Given the description of an element on the screen output the (x, y) to click on. 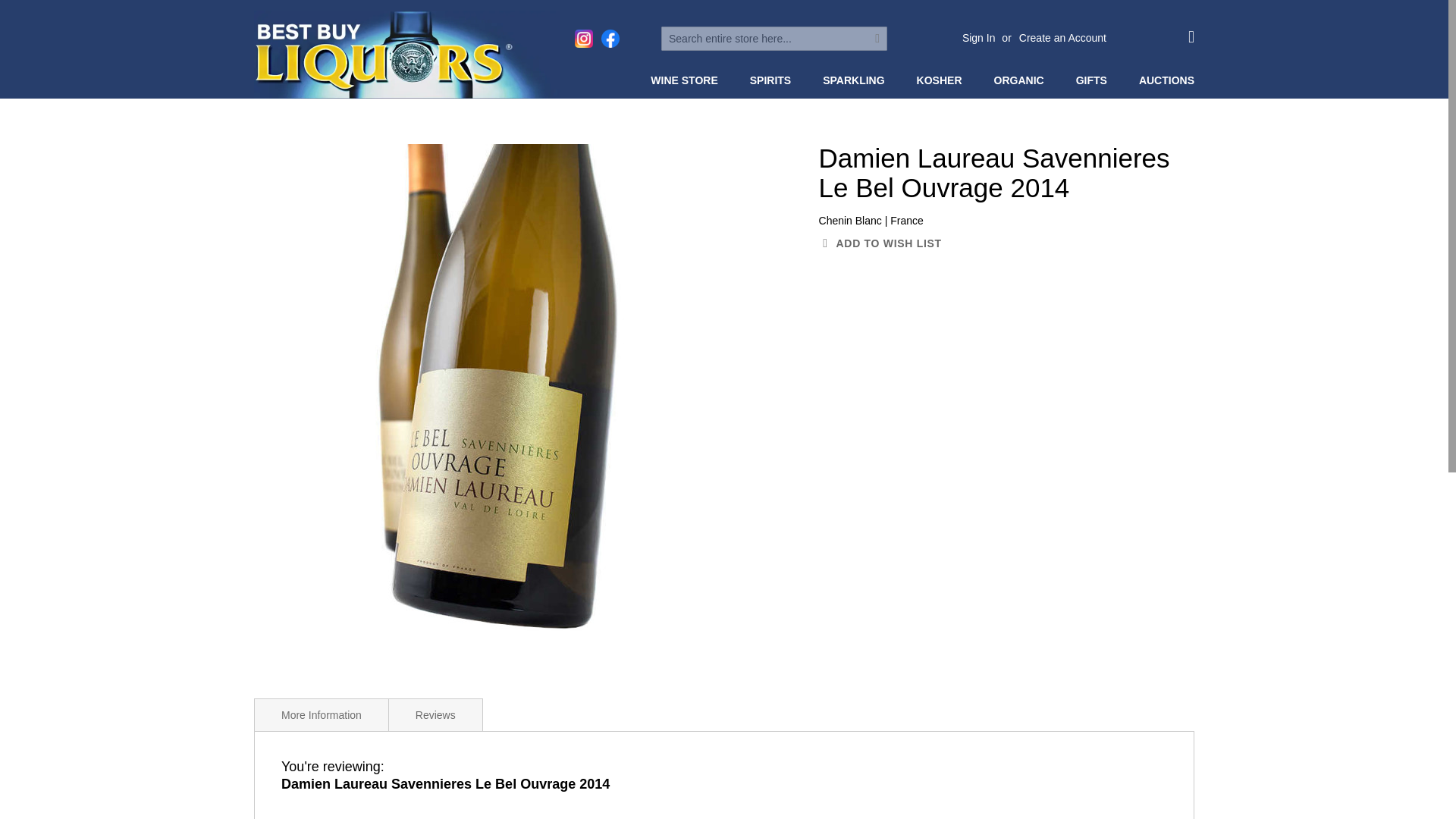
Best Buy Liquors on Facebook (610, 38)
Best Buy Liquors on Instagram (583, 38)
Create an Account (1062, 38)
WINE STORE (687, 80)
Best Buy Liquors (406, 54)
SPIRITS (773, 80)
Sign In (978, 38)
